Given the description of an element on the screen output the (x, y) to click on. 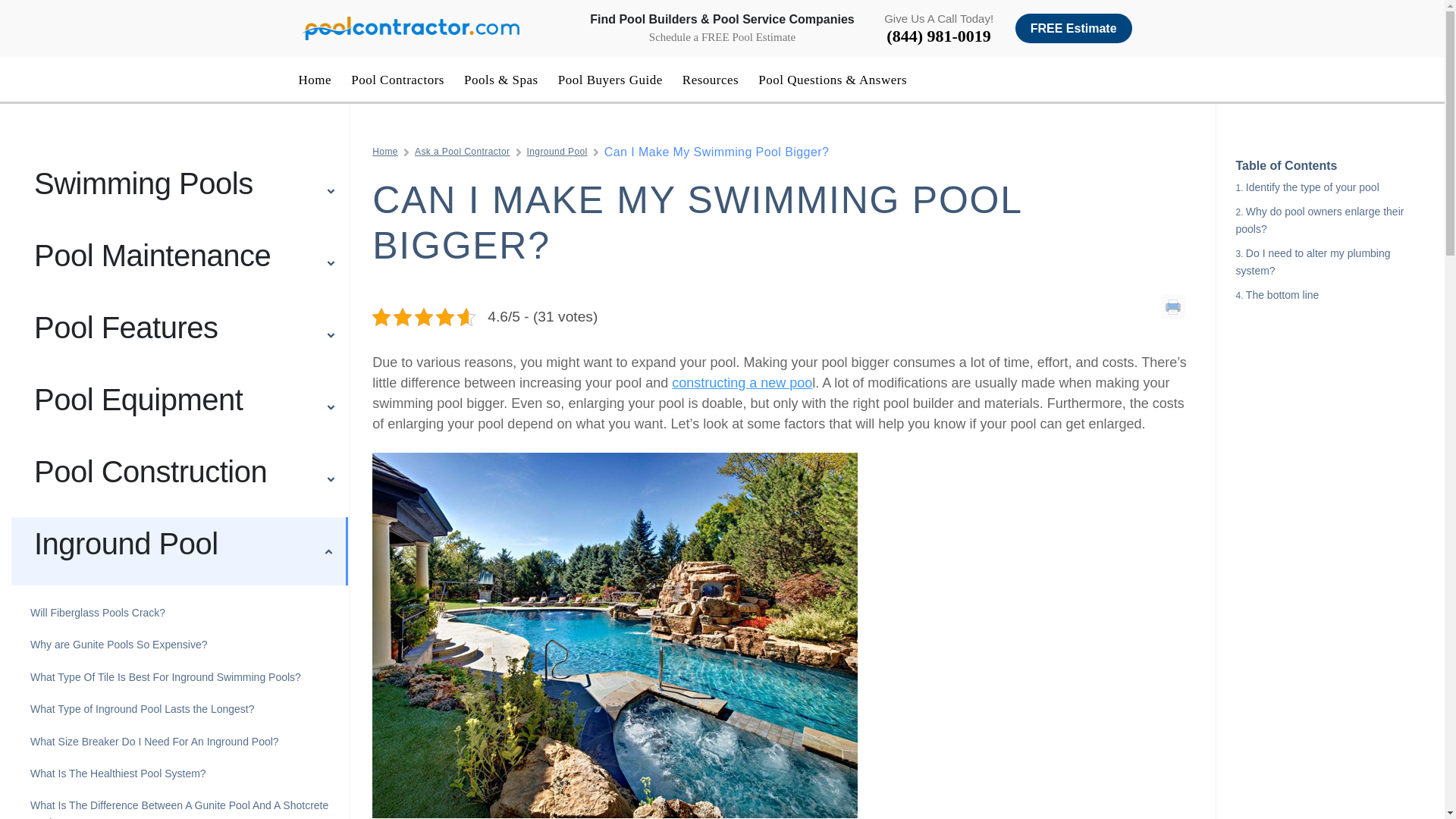
Home (384, 151)
Ask a Pool Contractor (462, 151)
Resources (710, 80)
Pool Buyers Guide (609, 80)
FREE Estimate (1073, 28)
Pool Contractors (397, 80)
Schedule a FREE Pool Estimate (721, 36)
Home (314, 80)
